Given the description of an element on the screen output the (x, y) to click on. 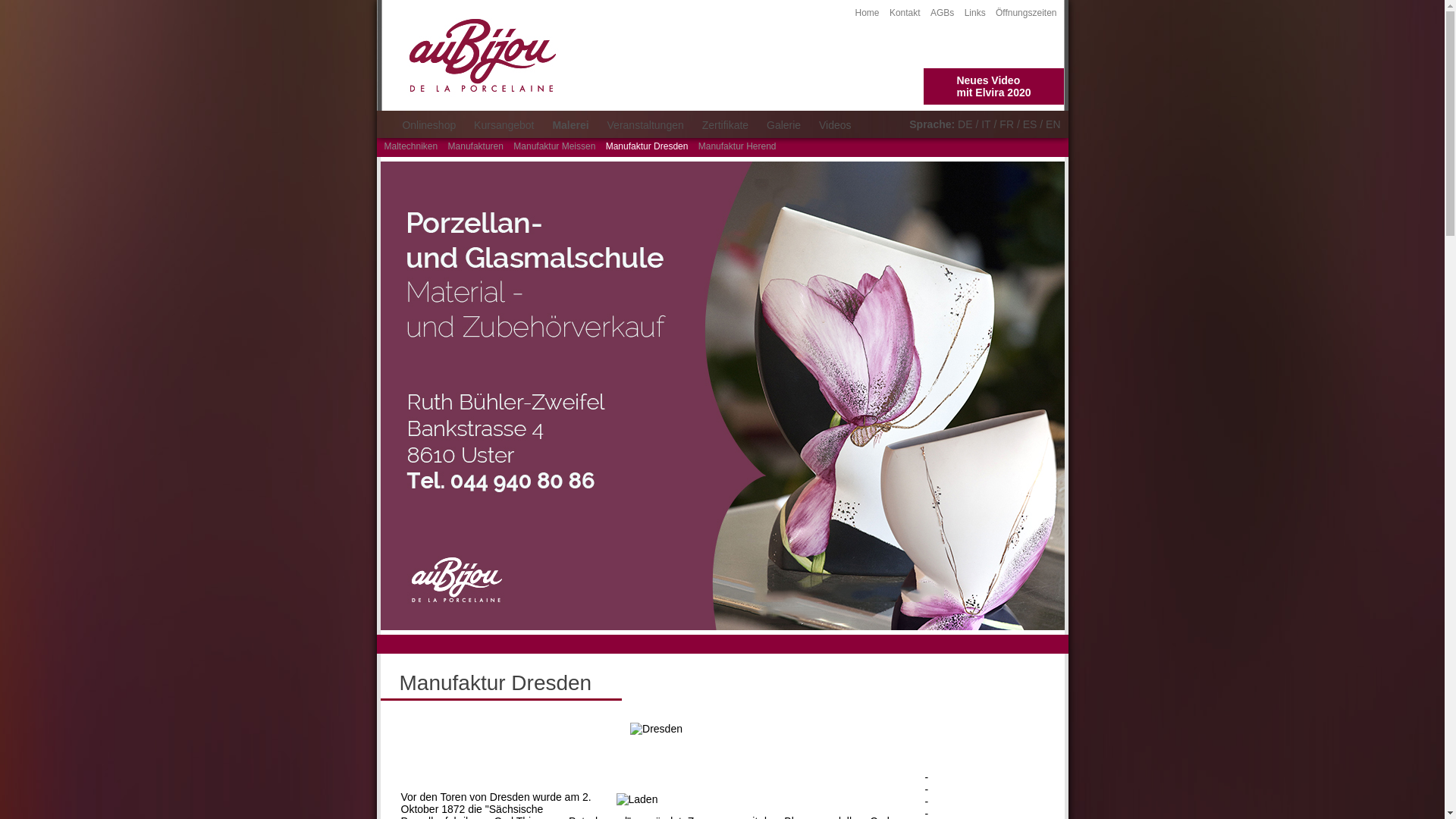
Malkurse Element type: text (952, 801)
Laden Element type: hover (761, 799)
Home Element type: text (867, 12)
Kontakt Element type: text (904, 12)
Spezialkurse Element type: text (961, 789)
DE Element type: text (964, 123)
FR Element type: text (1006, 123)
Manufaktur Dresden Element type: text (646, 146)
Zertifikate Element type: text (725, 124)
IT Element type: text (985, 123)
EN Element type: text (1052, 123)
Onlineshop Element type: text (428, 124)
AGBs Element type: text (941, 12)
Dresden Element type: hover (656, 727)
Kursangebot Element type: text (503, 124)
ES Element type: text (1029, 123)
Videos Element type: text (835, 124)
Maltechniken Element type: text (410, 146)
Veranstaltungen Element type: text (645, 124)
Manufakturen Element type: text (475, 146)
Links Element type: text (974, 12)
Manufaktur Meissen Element type: text (554, 146)
Intensivseminare Element type: text (971, 777)
Galerie Element type: text (783, 124)
Malerei Element type: text (570, 124)
Manufaktur Herend Element type: text (737, 146)
Neues Video
mit Elvira 2020 Element type: text (993, 86)
